Given the description of an element on the screen output the (x, y) to click on. 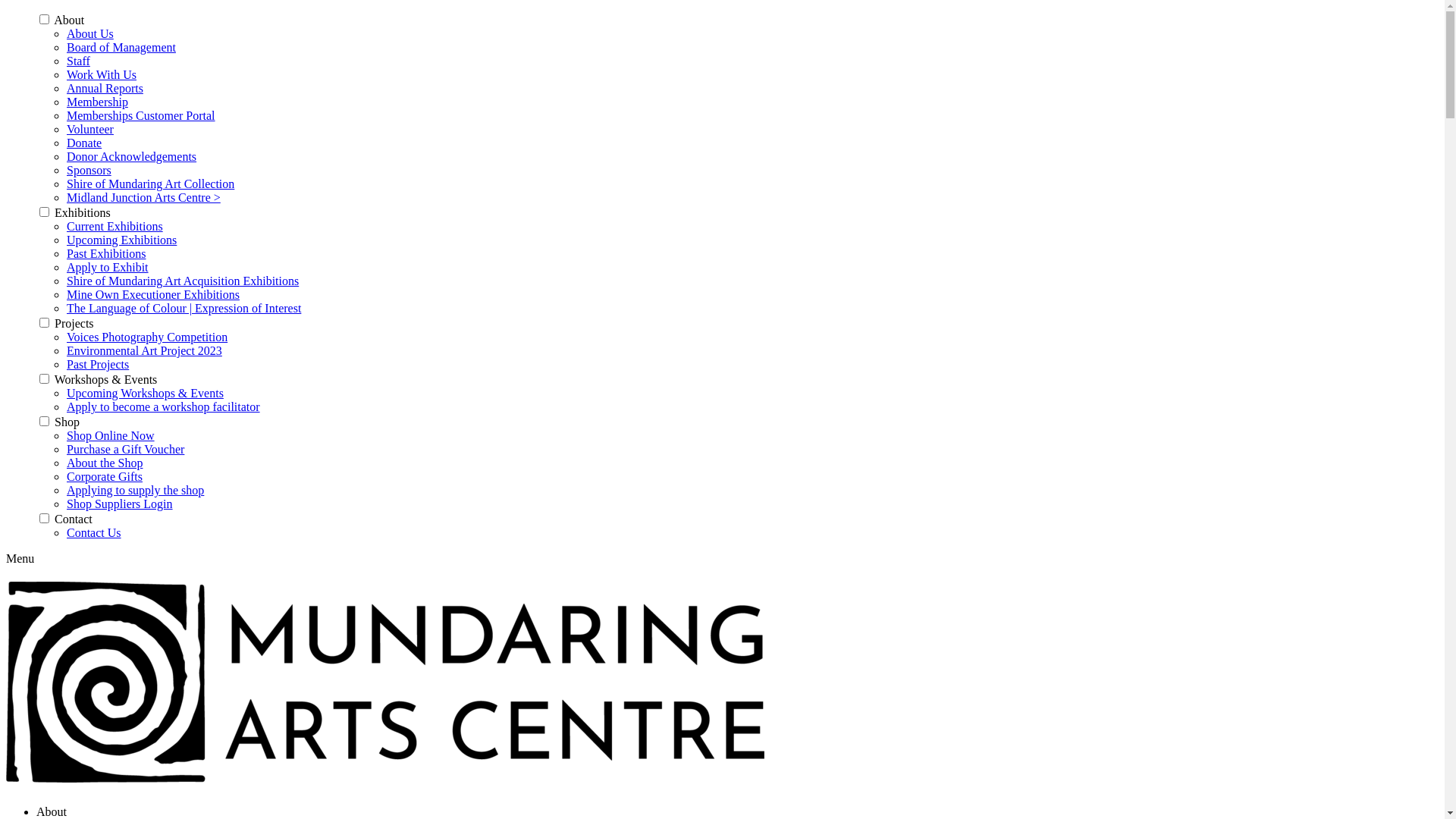
Work With Us Element type: text (101, 74)
Upcoming Workshops & Events Element type: text (144, 392)
Applying to supply the shop Element type: text (134, 489)
Apply to Exhibit Element type: text (107, 266)
Memberships Customer Portal Element type: text (140, 115)
Midland Junction Arts Centre > Element type: text (143, 197)
The Language of Colour | Expression of Interest Element type: text (183, 307)
Shire of Mundaring Art Collection Element type: text (150, 183)
Corporate Gifts Element type: text (104, 476)
Sponsors Element type: text (88, 169)
About the Shop Element type: text (104, 462)
Shire of Mundaring Art Acquisition Exhibitions Element type: text (182, 280)
Volunteer Element type: text (89, 128)
Purchase a Gift Voucher Element type: text (125, 448)
Donor Acknowledgements Element type: text (131, 156)
Past Projects Element type: text (97, 363)
Shop Suppliers Login Element type: text (119, 503)
Shop Online Now Element type: text (110, 435)
About Element type: text (51, 811)
Apply to become a workshop facilitator Element type: text (163, 406)
Annual Reports Element type: text (104, 87)
Menu Element type: text (20, 558)
Mine Own Executioner Exhibitions Element type: text (152, 294)
Environmental Art Project 2023 Element type: text (144, 350)
Membership Element type: text (97, 101)
Board of Management Element type: text (120, 46)
Voices Photography Competition Element type: text (146, 336)
Upcoming Exhibitions Element type: text (121, 239)
Contact Us Element type: text (93, 532)
About Us Element type: text (89, 33)
Staff Element type: text (78, 60)
Current Exhibitions Element type: text (114, 225)
Donate Element type: text (83, 142)
Past Exhibitions Element type: text (105, 253)
